Given the description of an element on the screen output the (x, y) to click on. 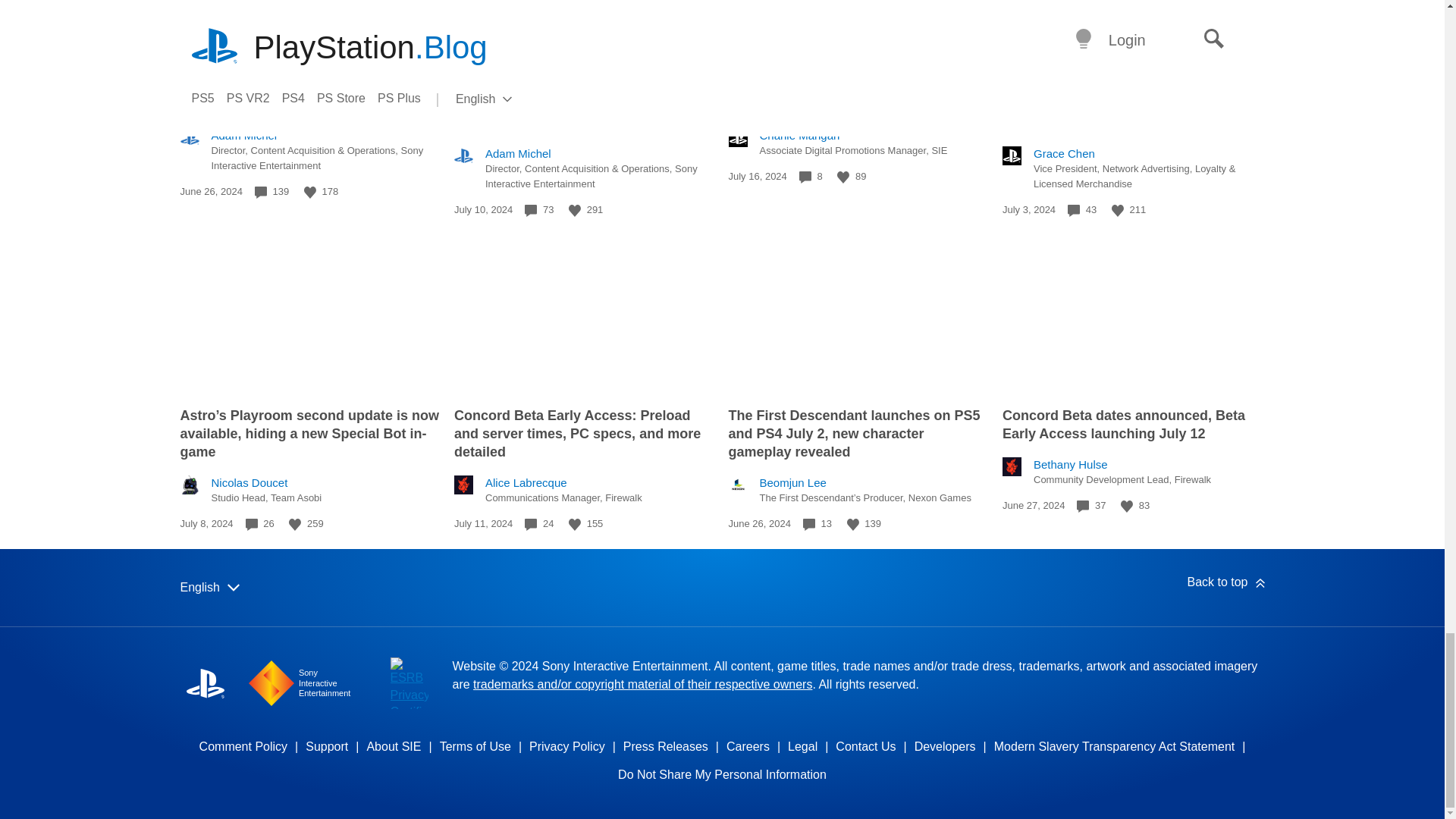
Like this (309, 192)
Like this (294, 524)
Like this (574, 210)
Like this (842, 177)
Like this (1118, 210)
